Given the description of an element on the screen output the (x, y) to click on. 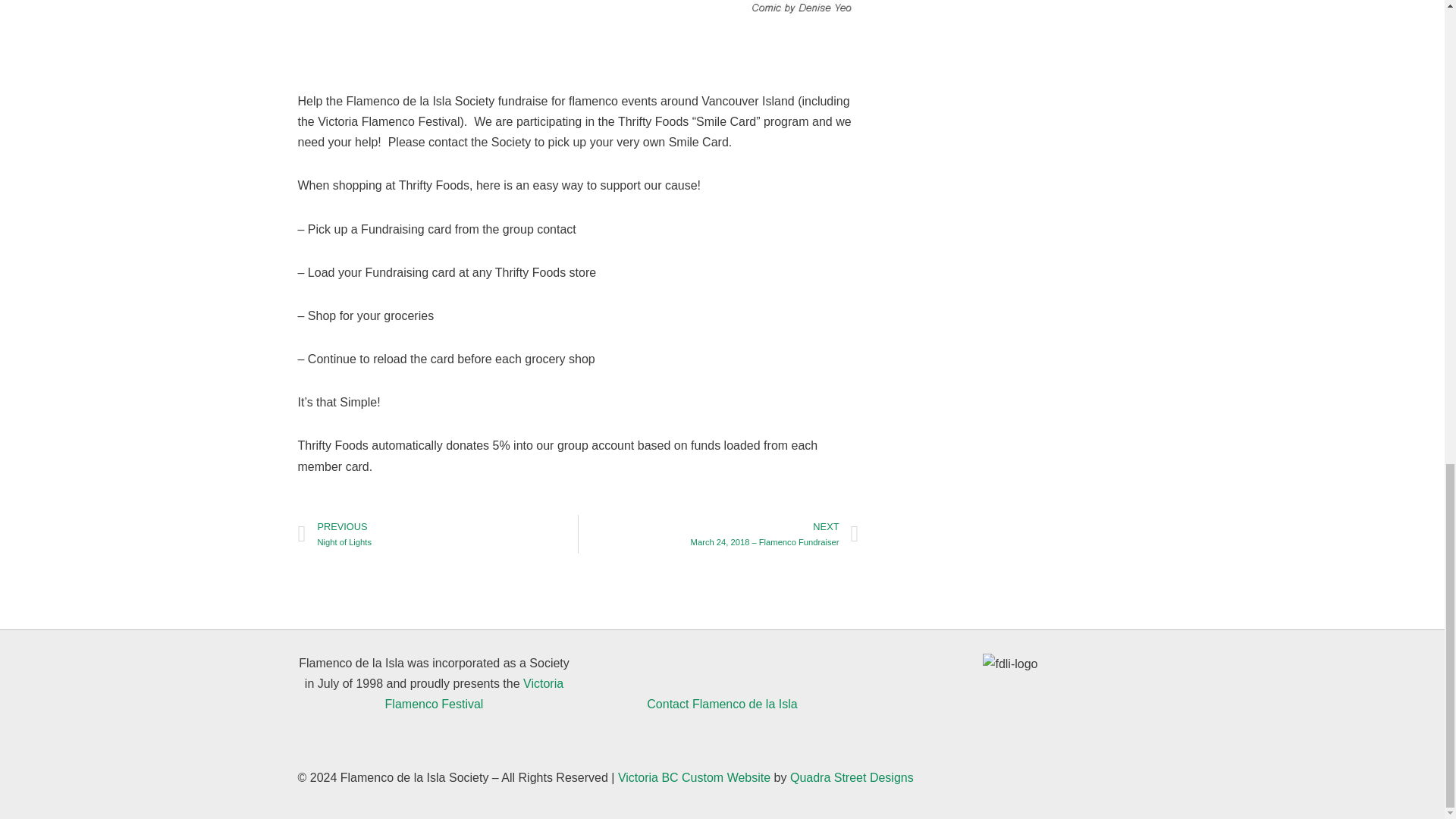
Victoria Flamenco Festival (474, 693)
fdli-logo (436, 534)
Victoria BC Custom Website (1009, 663)
Contact Flamenco de la Isla (693, 777)
How to use a Smile Card (721, 703)
